Given the description of an element on the screen output the (x, y) to click on. 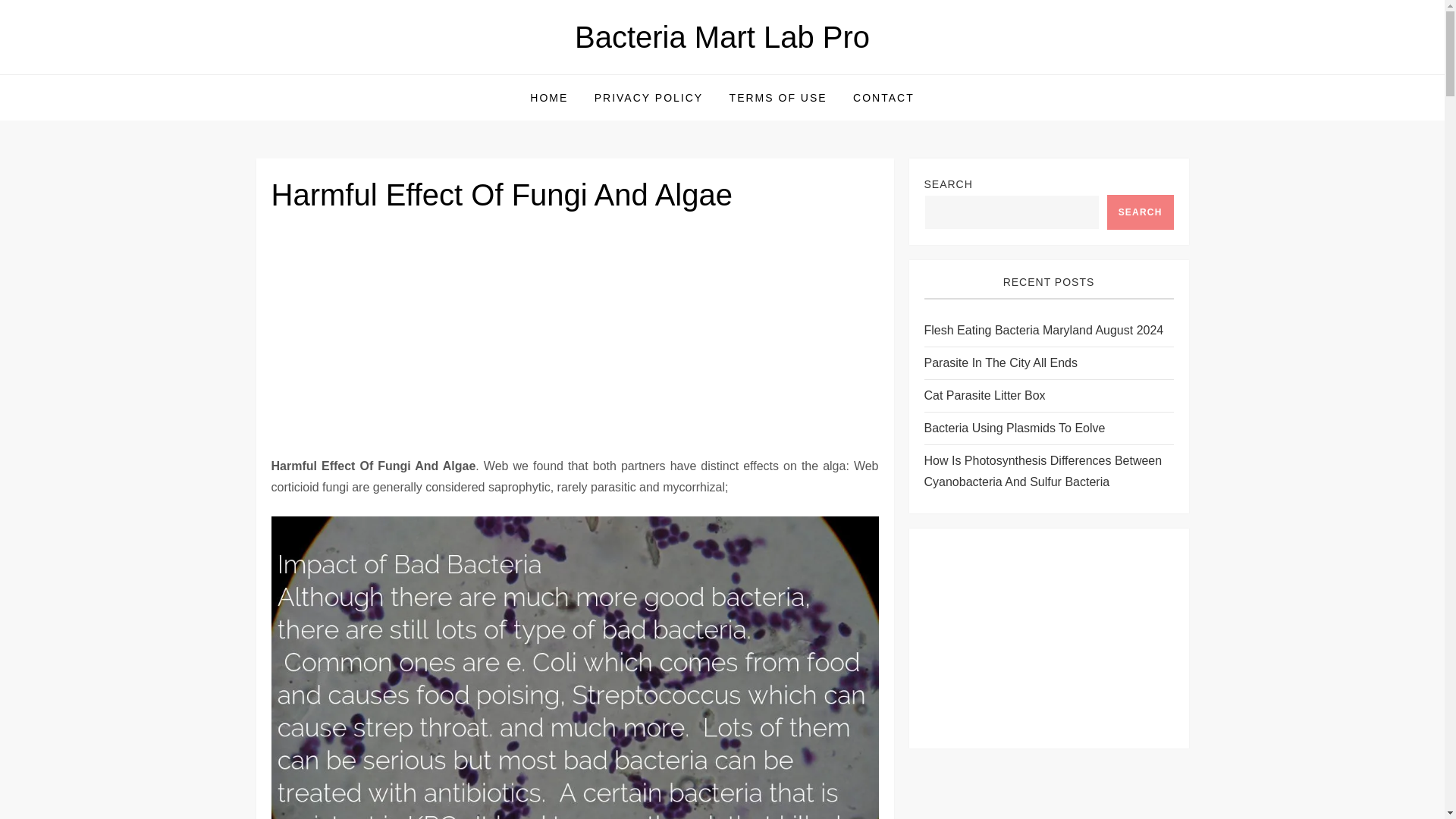
Flesh Eating Bacteria Maryland August 2024 (1043, 330)
CONTACT (883, 97)
TERMS OF USE (777, 97)
Bacteria Mart Lab Pro (722, 37)
Advertisement (1048, 638)
Cat Parasite Litter Box (984, 395)
Bacteria Using Plasmids To Eolve (1014, 427)
PRIVACY POLICY (648, 97)
Parasite In The City All Ends (1000, 362)
HOME (548, 97)
Advertisement (574, 343)
SEARCH (1139, 212)
